Given the description of an element on the screen output the (x, y) to click on. 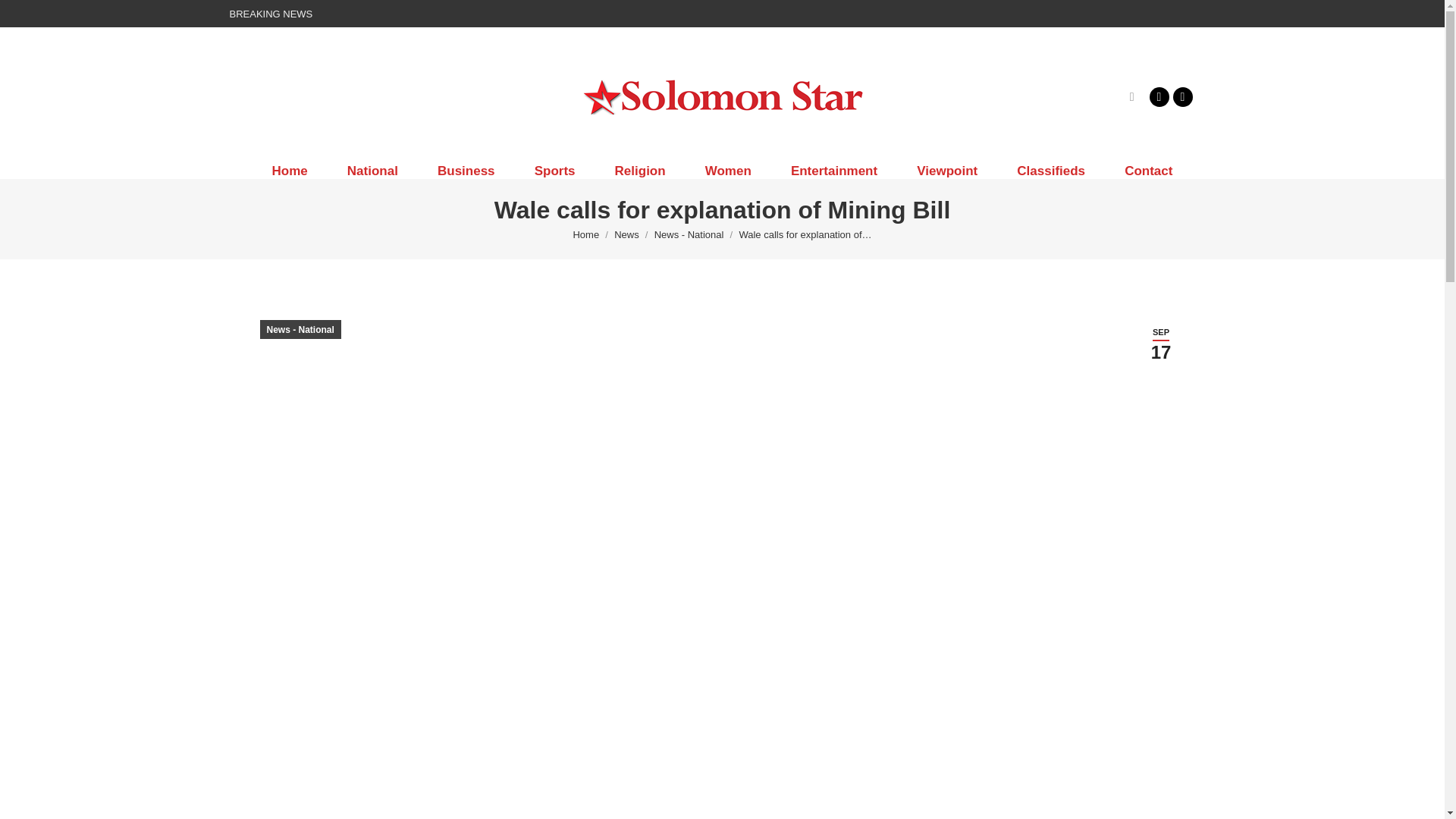
Go! (24, 17)
Facebook page opens in new window (1159, 96)
Business (466, 170)
Religion (640, 170)
Home (585, 234)
Classifieds (1051, 170)
1:33 pm (1161, 343)
X page opens in new window (1182, 96)
News (626, 234)
News - National (688, 234)
Home (288, 170)
Sports (555, 170)
Women (728, 170)
Viewpoint (946, 170)
X page opens in new window (1182, 96)
